Given the description of an element on the screen output the (x, y) to click on. 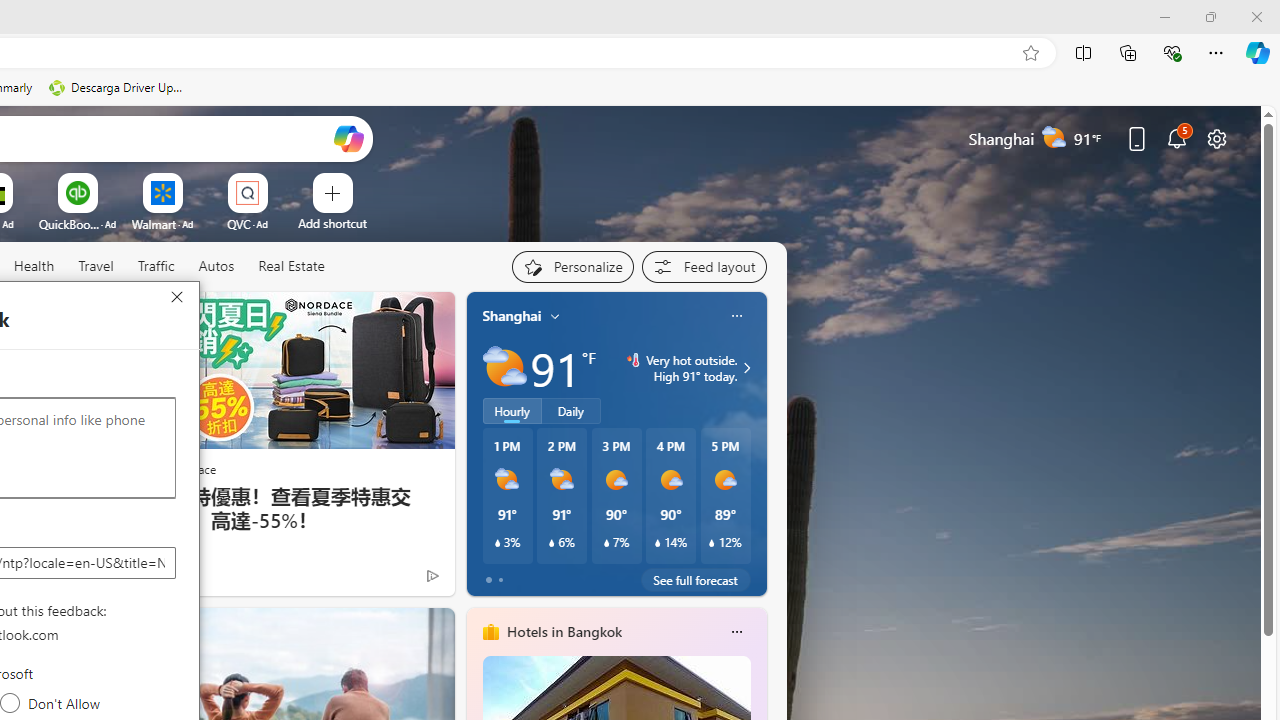
Feed settings (703, 266)
Don't Allow (10, 703)
tab-0 (488, 579)
tab-1 (500, 579)
Class: icon-img (736, 632)
Autos (215, 265)
